Given the description of an element on the screen output the (x, y) to click on. 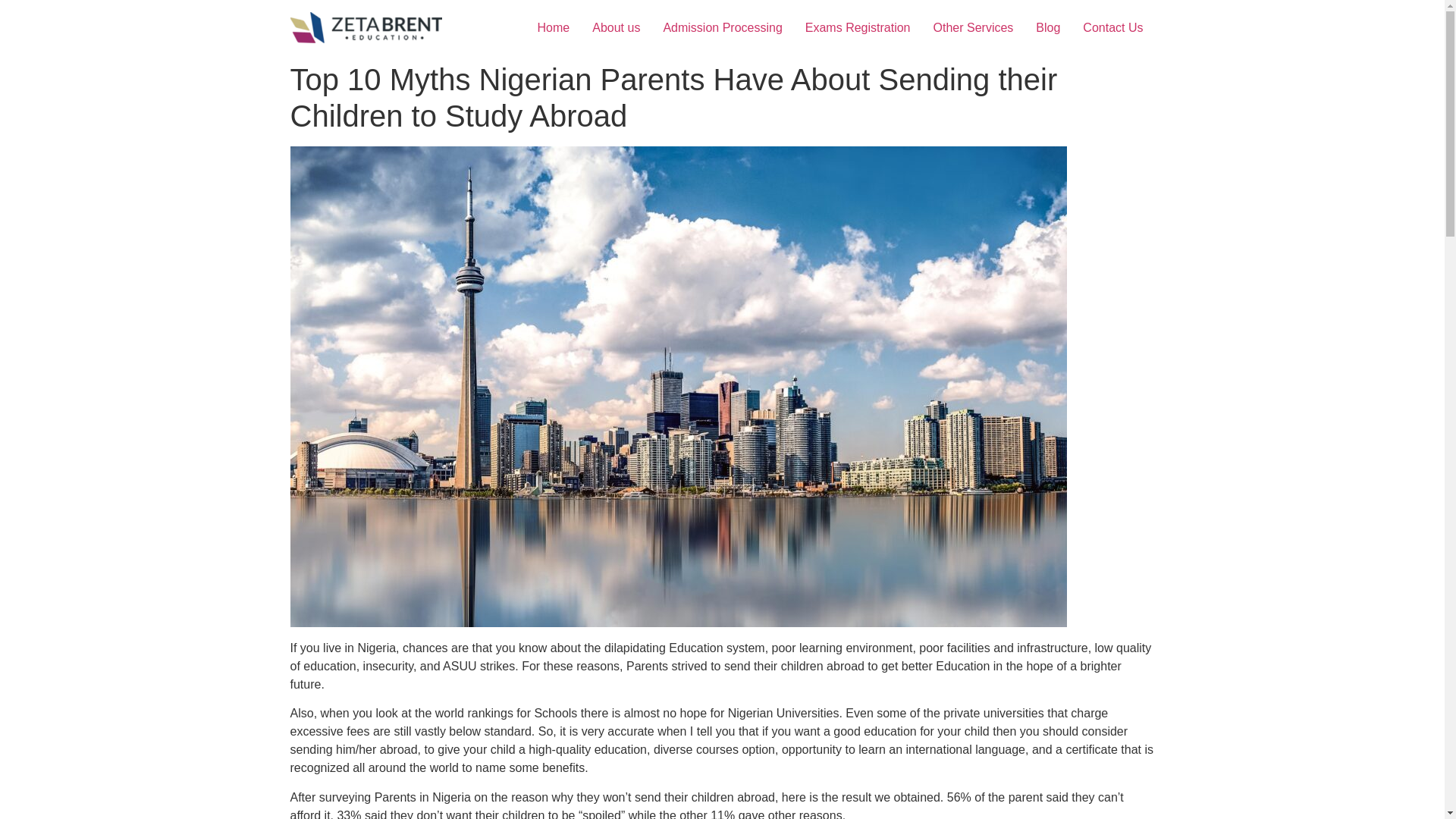
Home (552, 27)
Exams Registration (857, 27)
Blog (1048, 27)
Contact Us (1112, 27)
About us (615, 27)
Other Services (973, 27)
Admission Processing (721, 27)
